Given the description of an element on the screen output the (x, y) to click on. 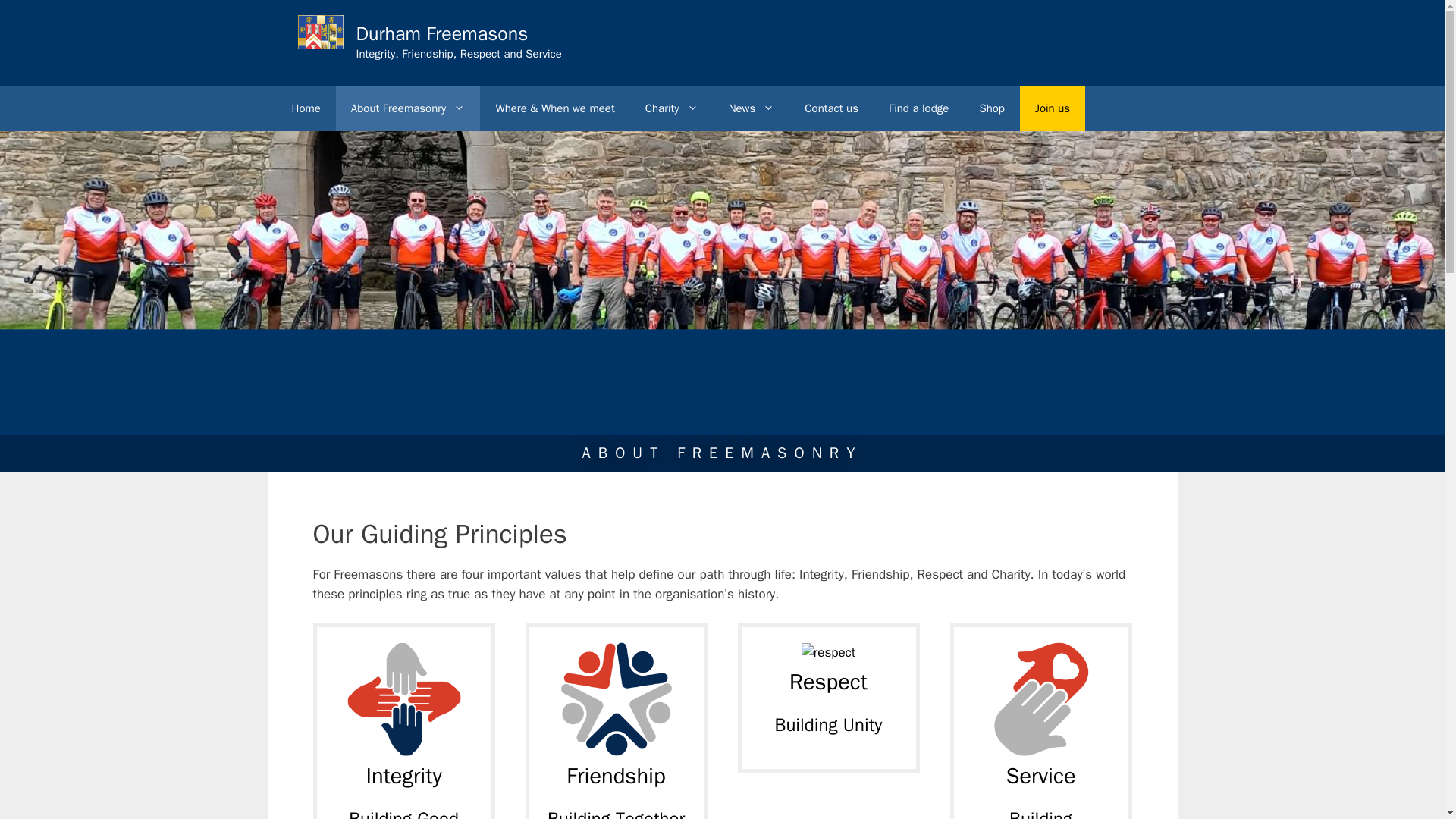
About Freemasonry (408, 108)
friendship (615, 698)
Home (305, 108)
charity (1040, 698)
integrity (404, 698)
Durham Freemasons (442, 33)
respect (829, 652)
